Given the description of an element on the screen output the (x, y) to click on. 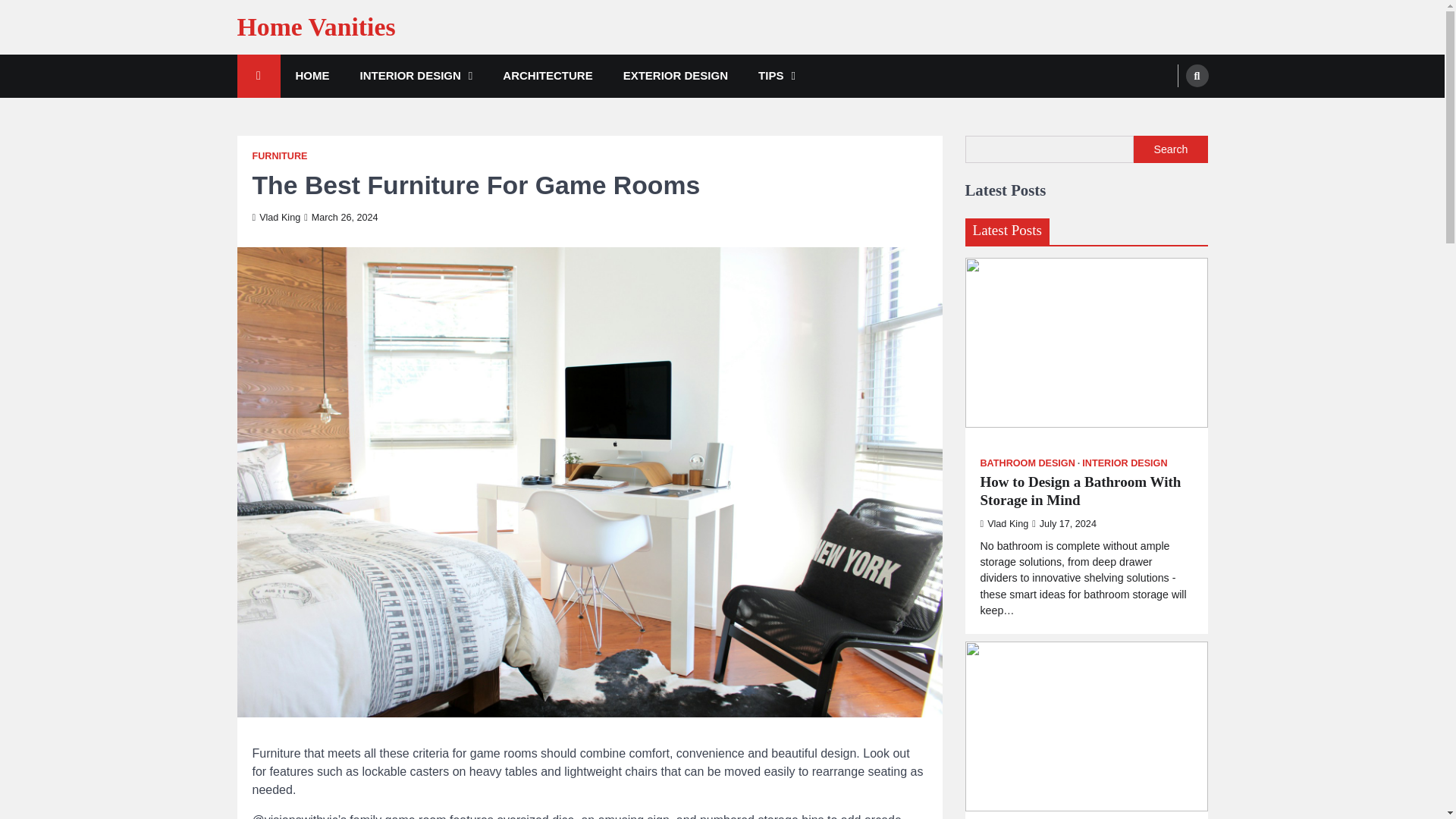
Search (1197, 75)
TIPS (776, 75)
FURNITURE (279, 156)
Home Vanities (314, 26)
INTERIOR DESIGN (1124, 463)
How to Design a Bathroom With Storage in Mind (1085, 492)
Search (1170, 148)
Vlad King (1003, 523)
HOME (313, 75)
March 26, 2024 (340, 217)
ARCHITECTURE (547, 75)
July 17, 2024 (1064, 523)
INTERIOR DESIGN (415, 75)
Vlad King (275, 217)
Search (1168, 111)
